Given the description of an element on the screen output the (x, y) to click on. 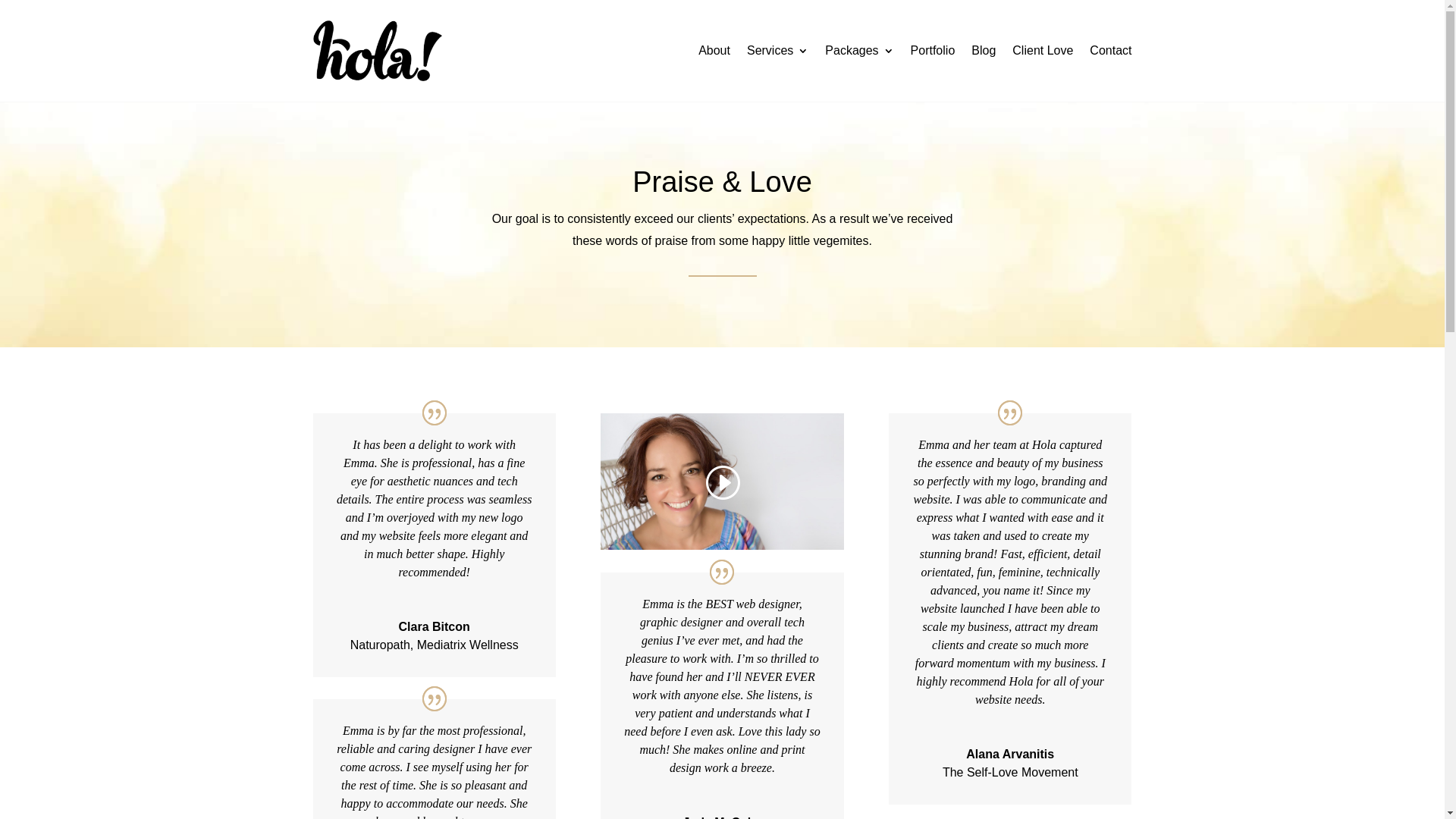
About Element type: text (714, 50)
Packages Element type: text (859, 50)
Contact Element type: text (1110, 50)
Services Element type: text (777, 50)
Testimonial from Jude, Tweed Coast Plan Management Element type: hover (721, 481)
Blog Element type: text (983, 50)
Client Love Element type: text (1042, 50)
Portfolio Element type: text (932, 50)
